Given the description of an element on the screen output the (x, y) to click on. 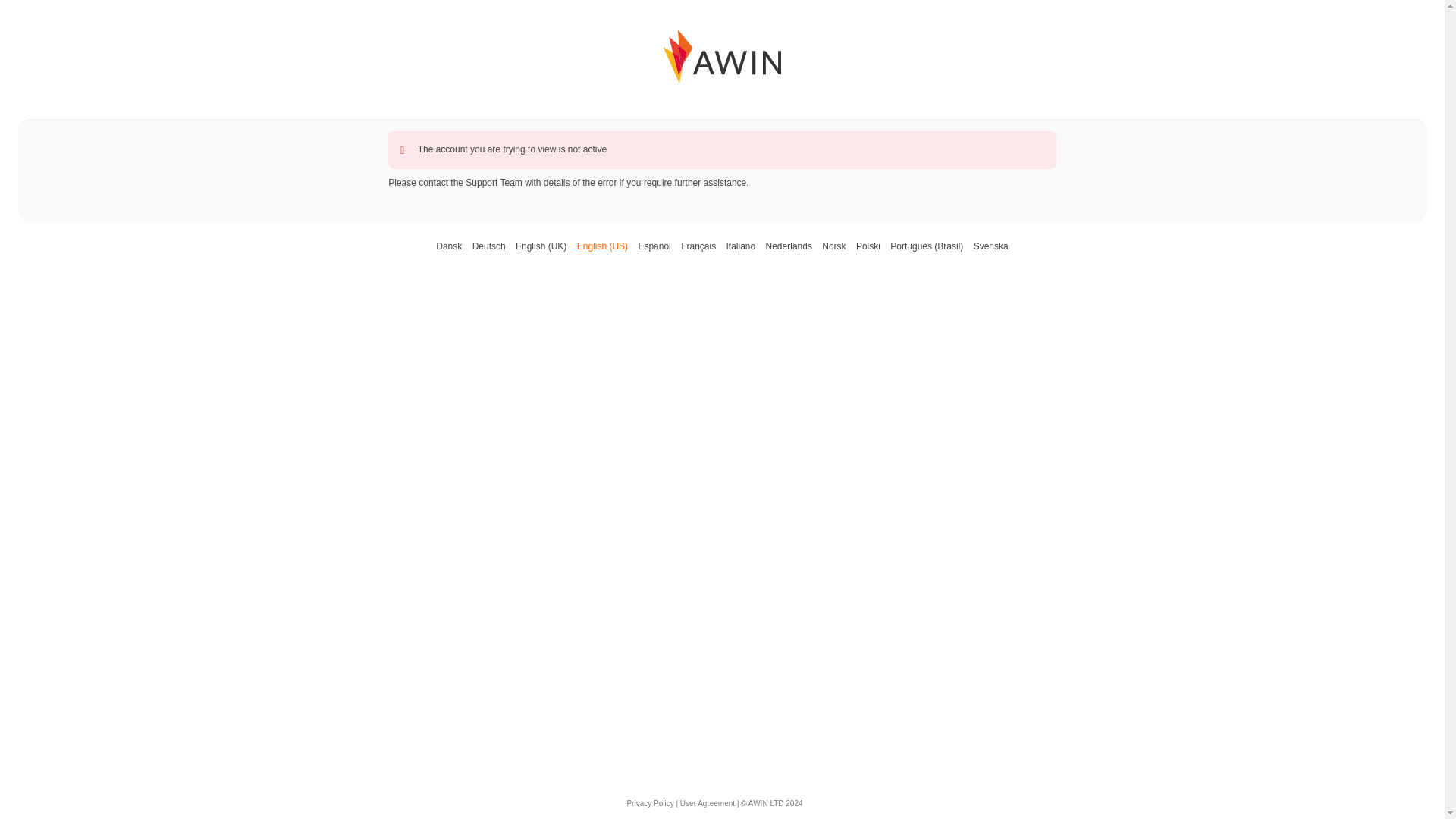
Nederlands (788, 245)
Svenska (991, 245)
User Agreement (707, 803)
Norsk (833, 245)
Deutsch (488, 245)
Privacy Policy (649, 803)
Dansk (448, 245)
Italiano (740, 245)
Polski (868, 245)
